Given the description of an element on the screen output the (x, y) to click on. 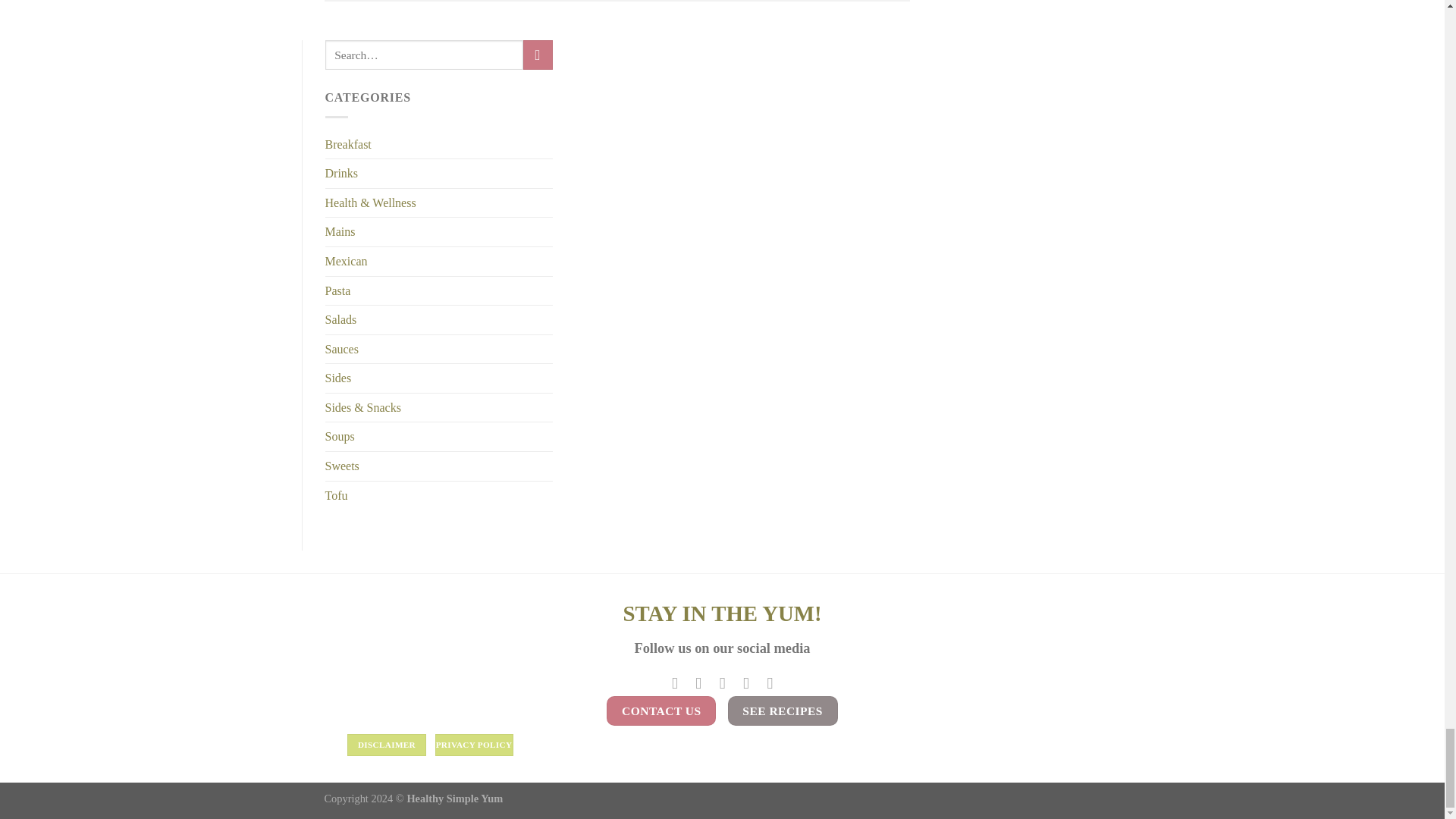
Send us an email (722, 682)
Follow on Facebook (674, 682)
Follow on Instagram (698, 682)
